Given the description of an element on the screen output the (x, y) to click on. 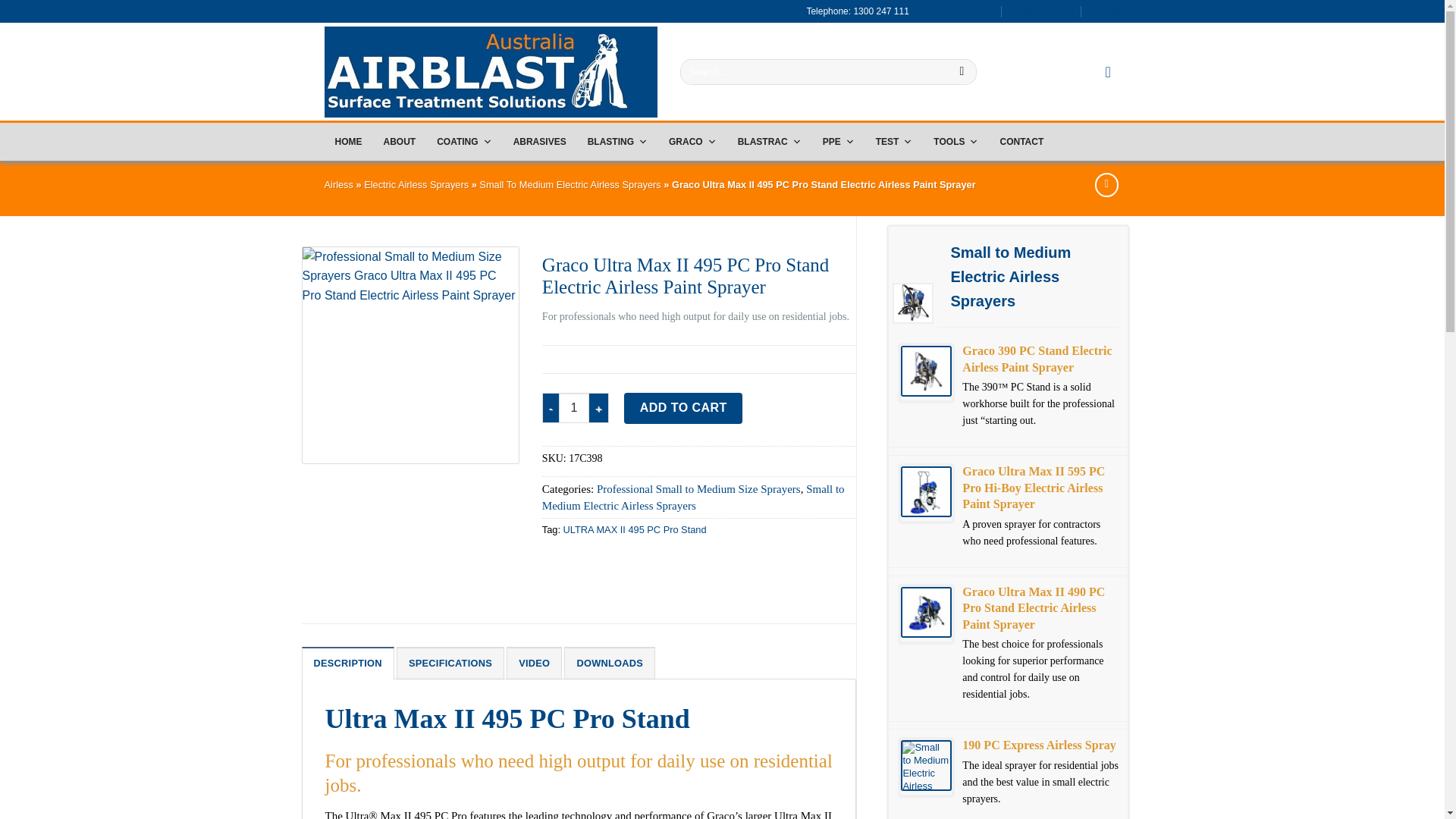
Graco 390 PC Stand Electric Airless Paint Sprayer (926, 370)
Airblast Australia - Right People, Right Solutions (491, 71)
LOGIN (1105, 11)
CONTACT US (1041, 11)
 1300 247 111 (957, 11)
COATING (464, 141)
190 PC Express Airless Spray (926, 765)
HOME (348, 141)
1300 247 111 (957, 11)
Search (961, 71)
Ultra Max II 495 PC Pro Stand (410, 355)
1 (574, 408)
ABOUT (399, 141)
